Given the description of an element on the screen output the (x, y) to click on. 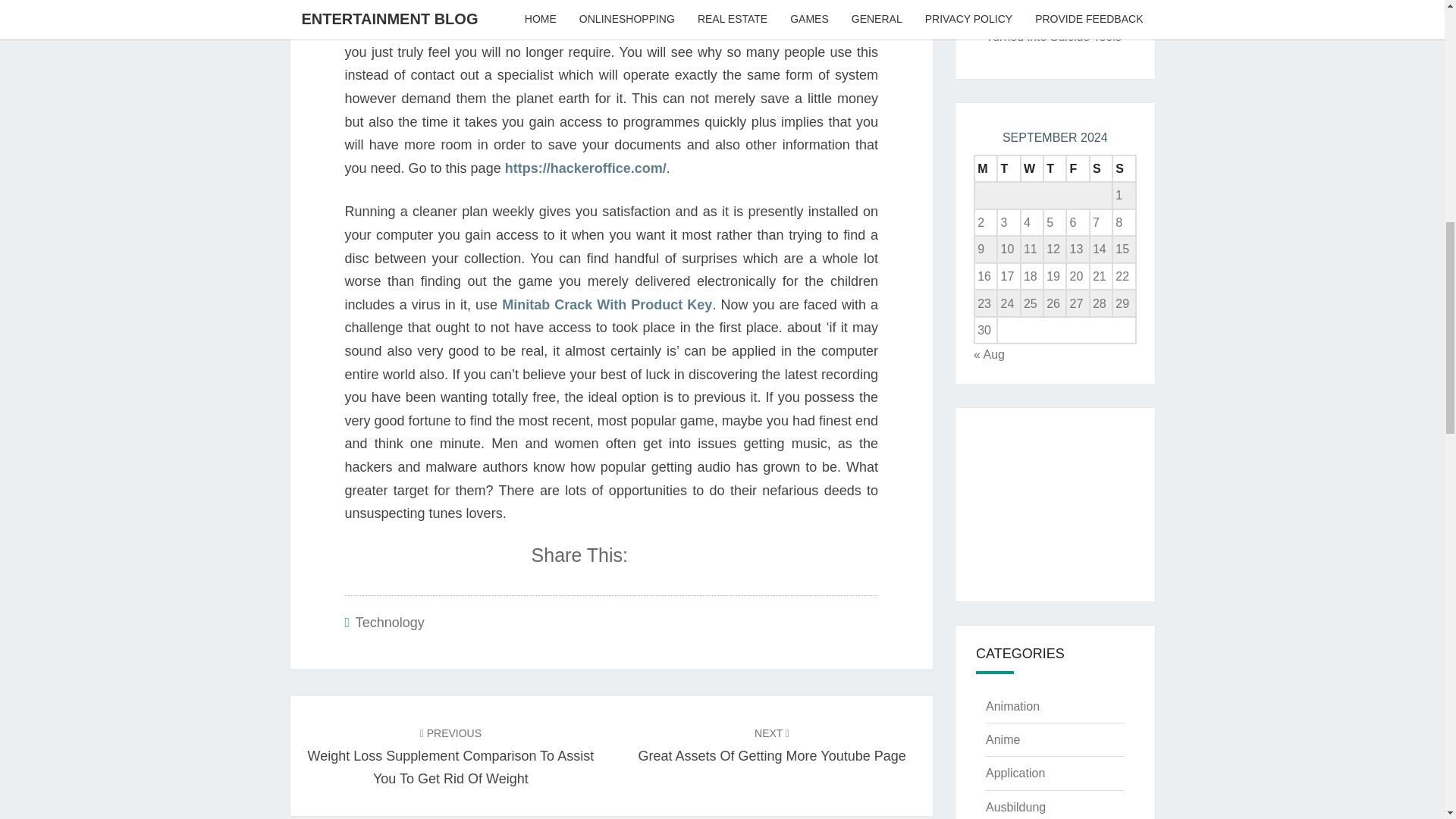
Minitab Crack With Product Key (606, 304)
Technology (772, 743)
